Given the description of an element on the screen output the (x, y) to click on. 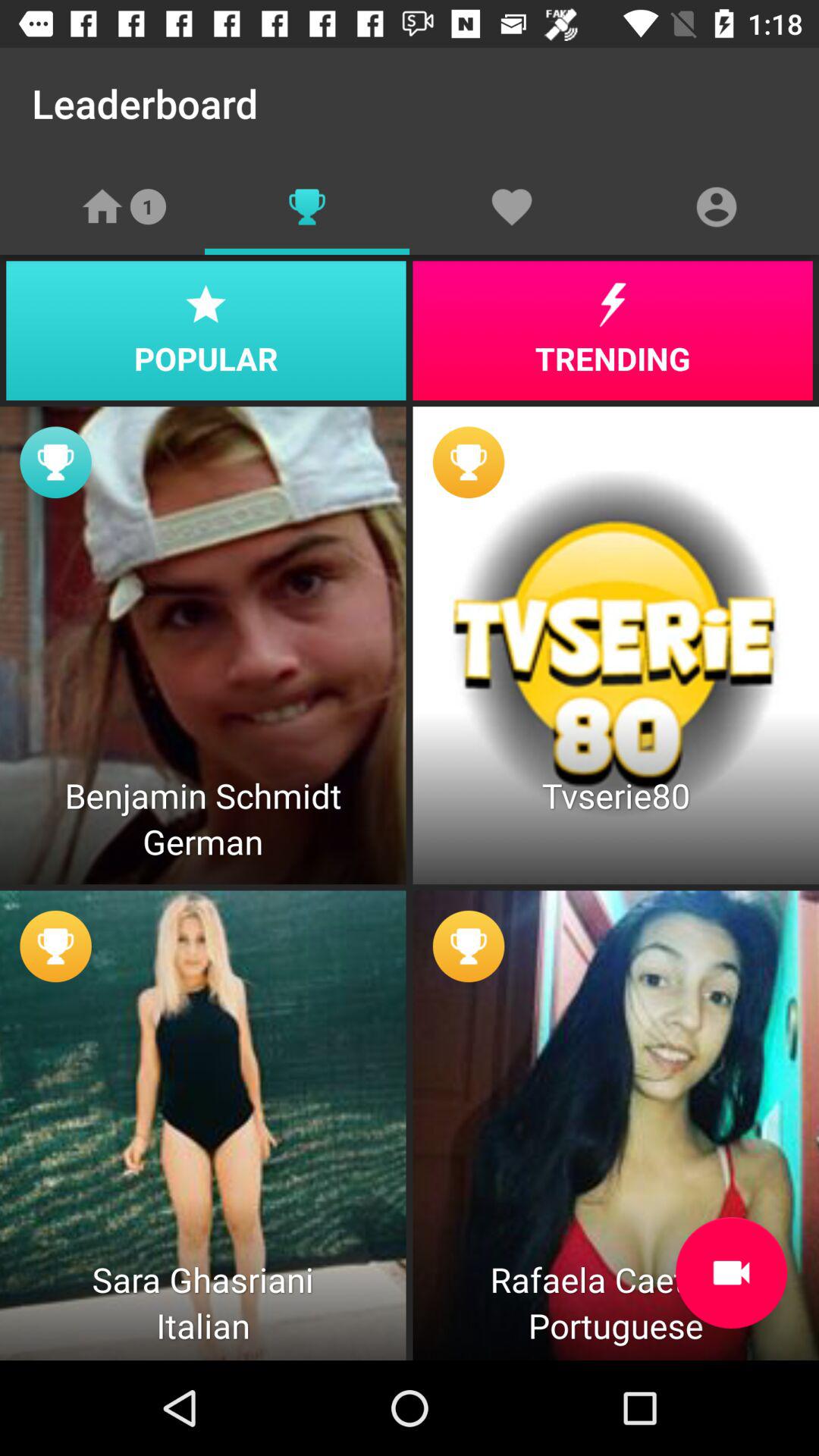
go to camera (731, 1272)
